Given the description of an element on the screen output the (x, y) to click on. 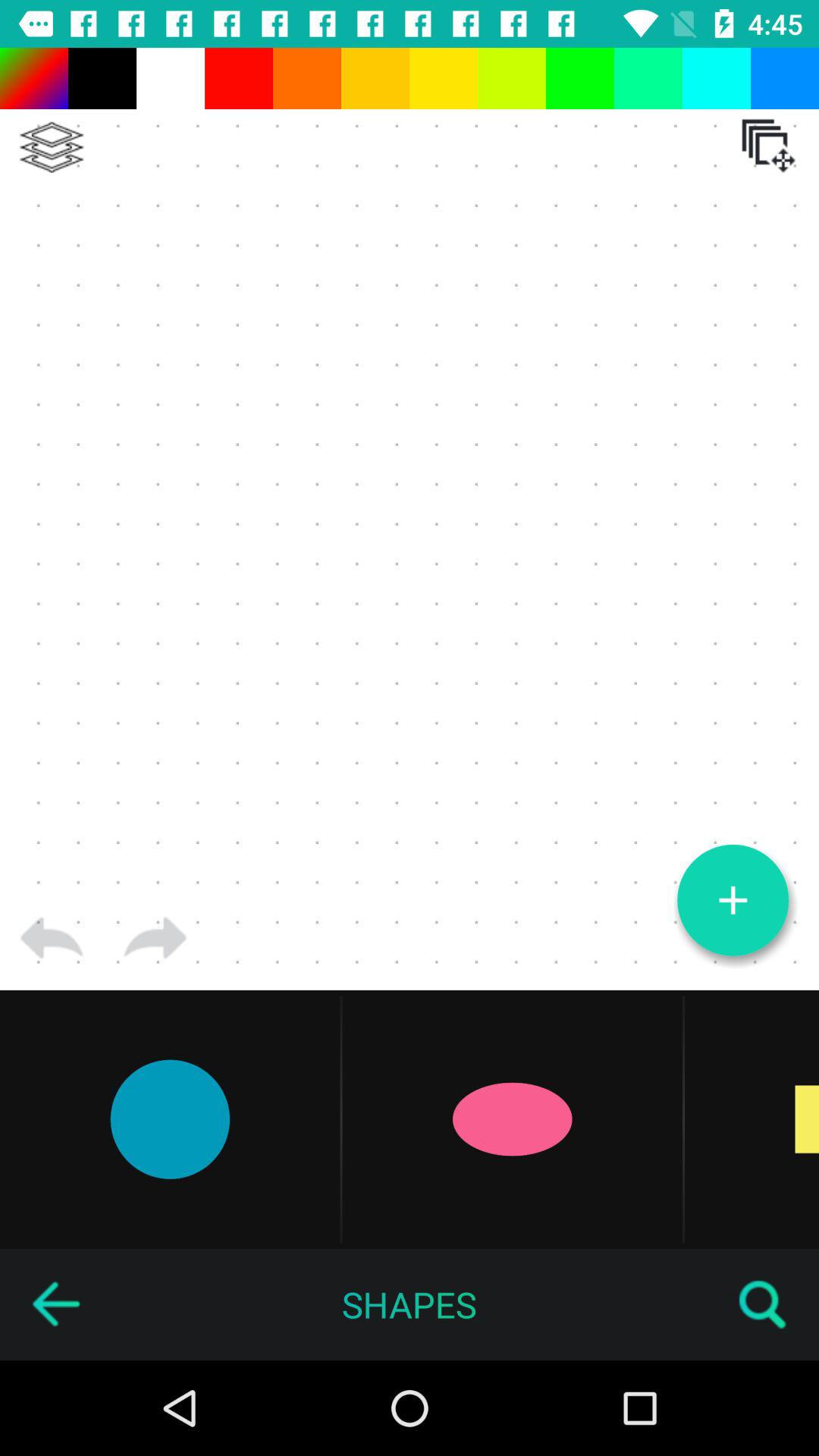
go back (55, 1304)
